Given the description of an element on the screen output the (x, y) to click on. 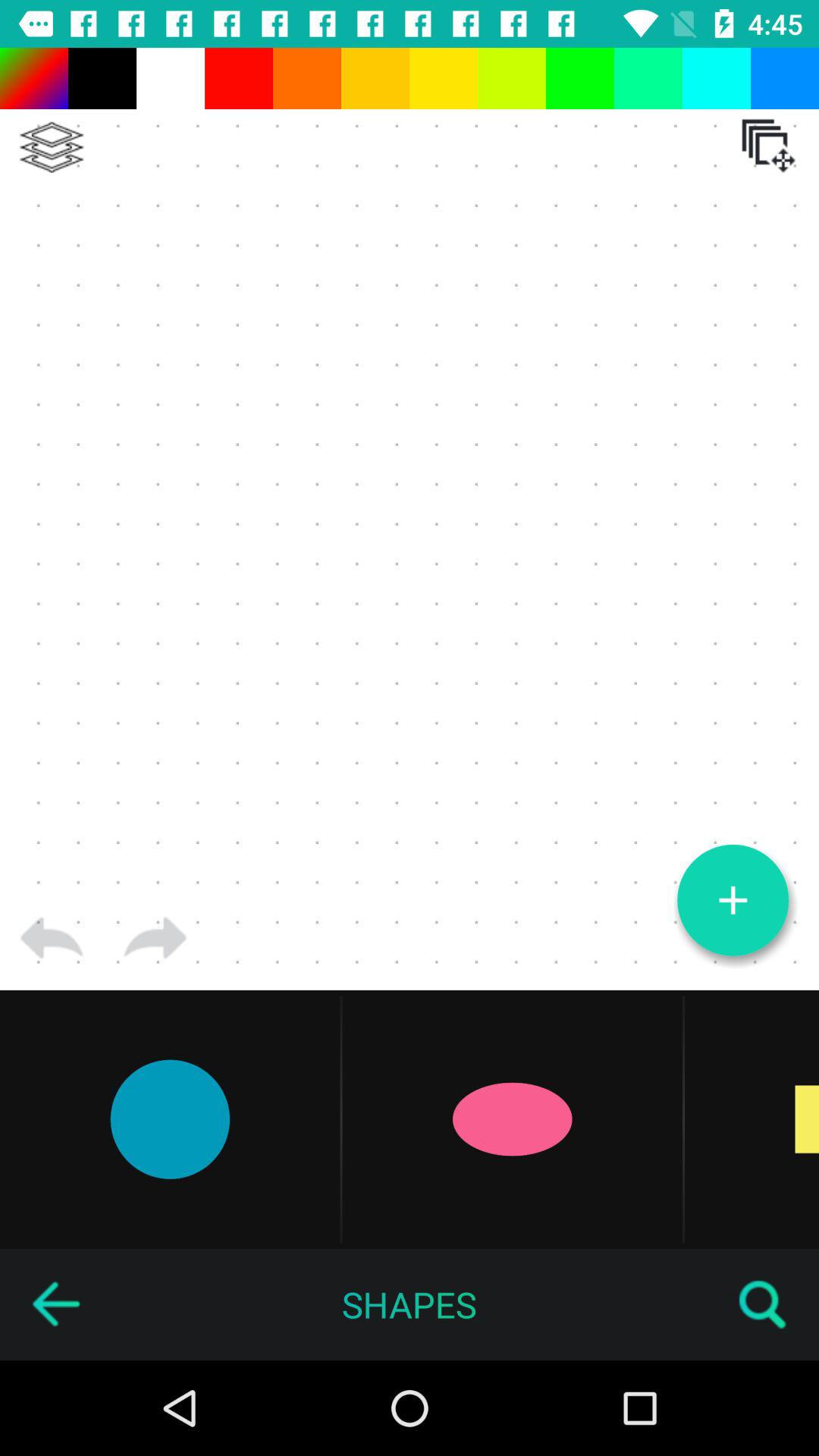
go back (55, 1304)
